Given the description of an element on the screen output the (x, y) to click on. 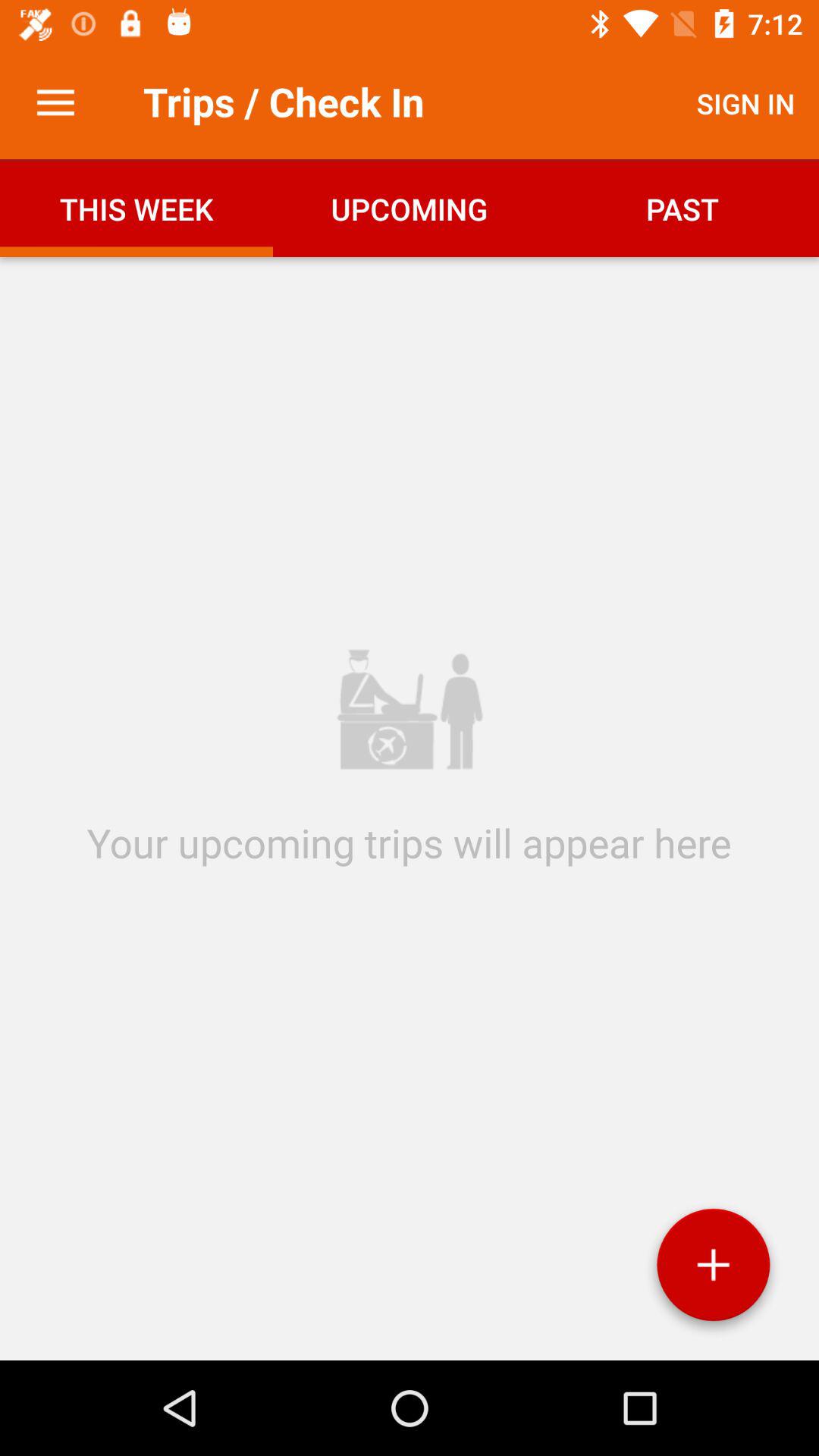
select the item below the your upcoming trips icon (713, 1270)
